Given the description of an element on the screen output the (x, y) to click on. 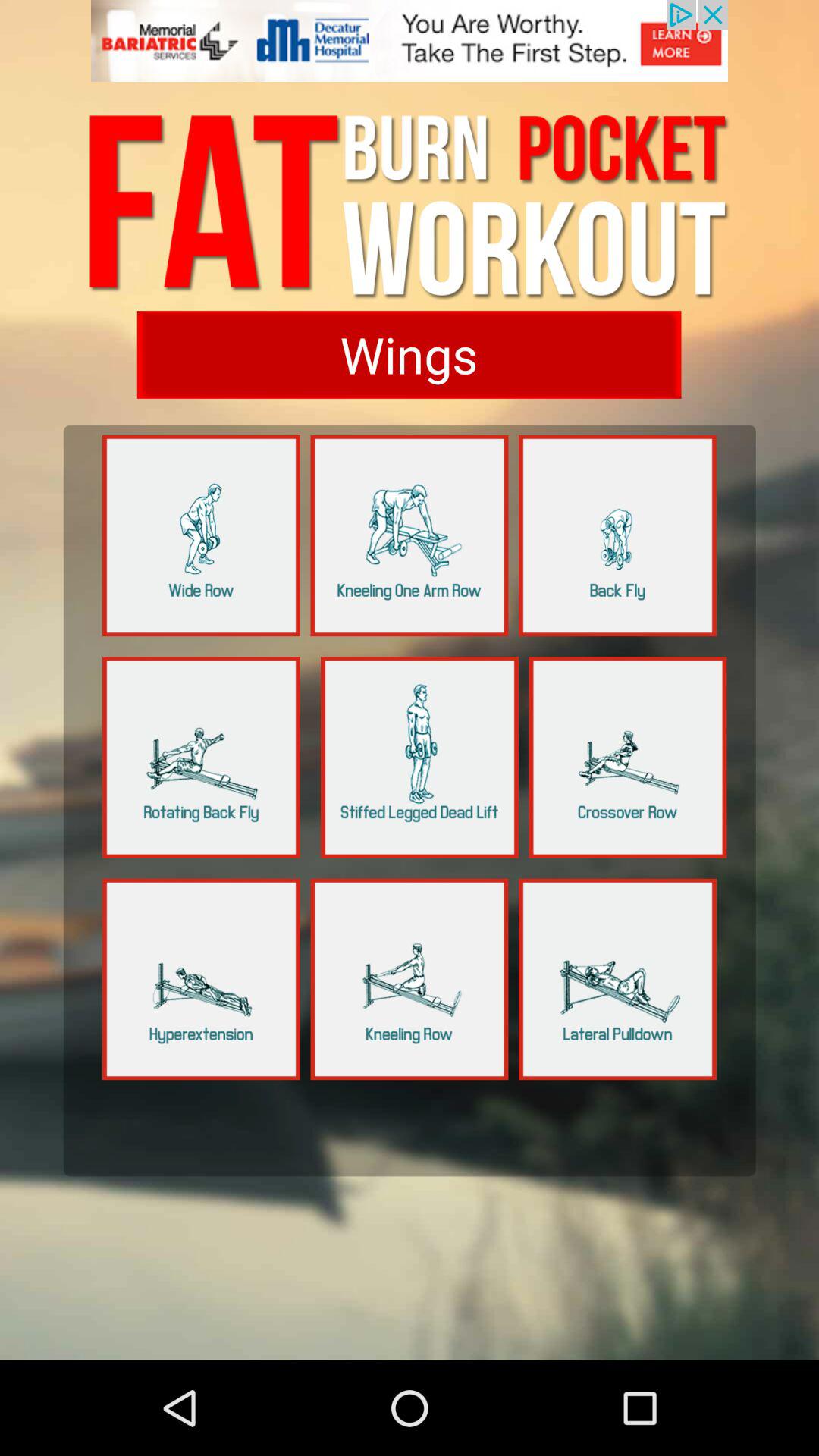
share the article (409, 535)
